Given the description of an element on the screen output the (x, y) to click on. 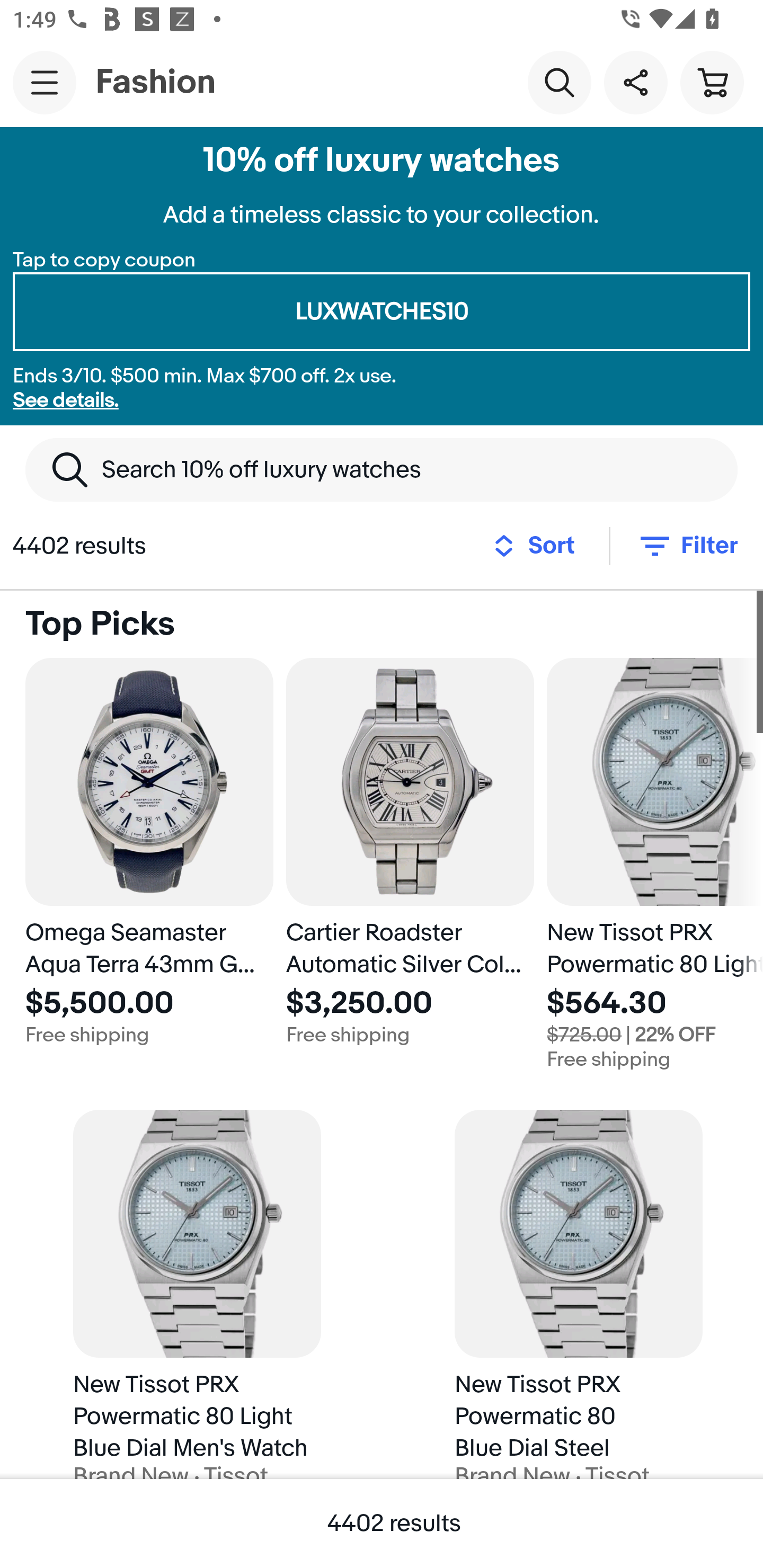
Main navigation, open (44, 82)
Search (559, 81)
Share this page (635, 81)
Cart button shopping cart (711, 81)
LUXWATCHES10 (381, 311)
See details. (65, 400)
Search 10% off luxury watches (381, 469)
Sort (538, 546)
Filter (686, 546)
